Given the description of an element on the screen output the (x, y) to click on. 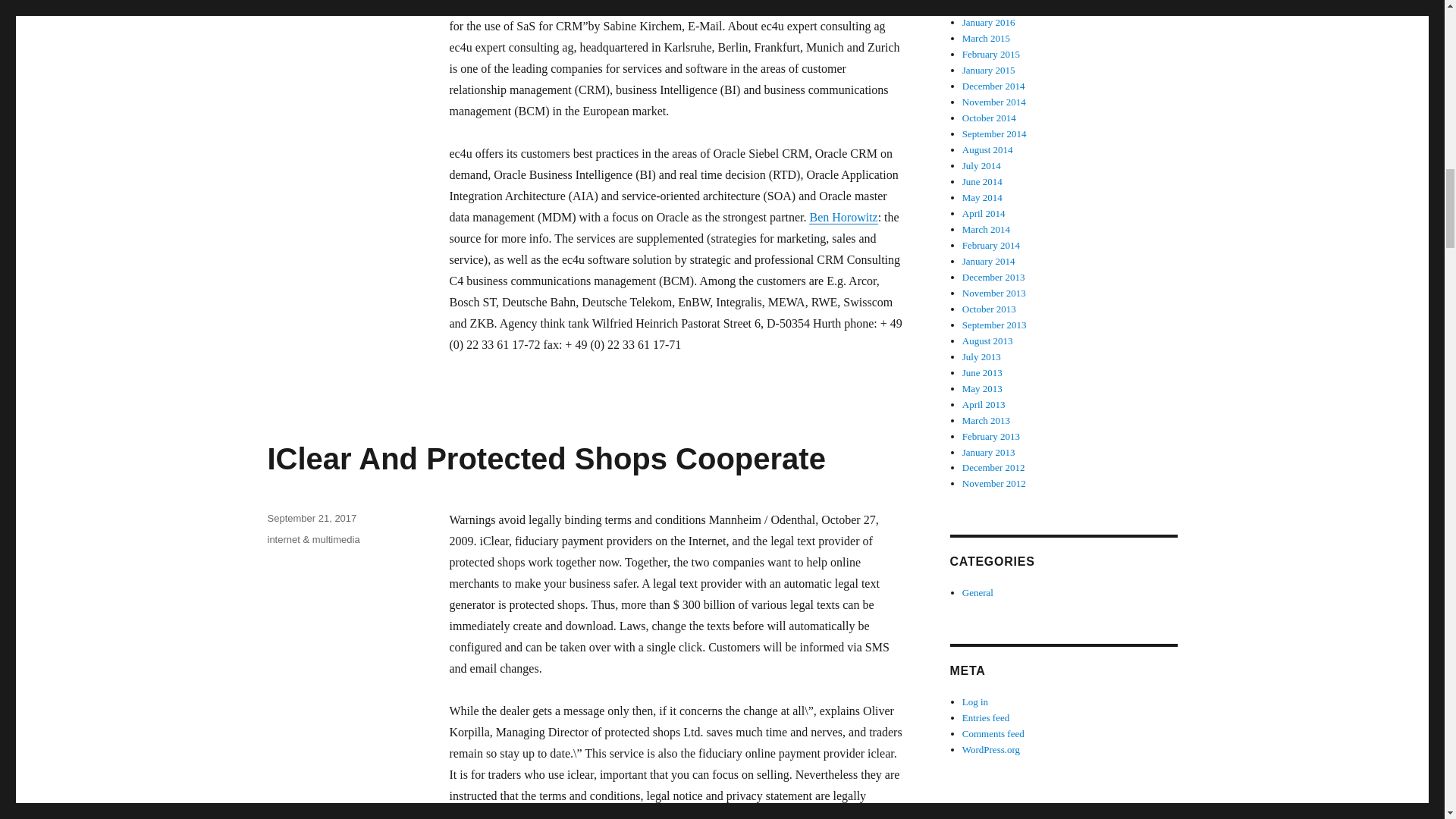
September 21, 2017 (311, 518)
Ben Horowitz (843, 216)
IClear And Protected Shops Cooperate (545, 458)
